Given the description of an element on the screen output the (x, y) to click on. 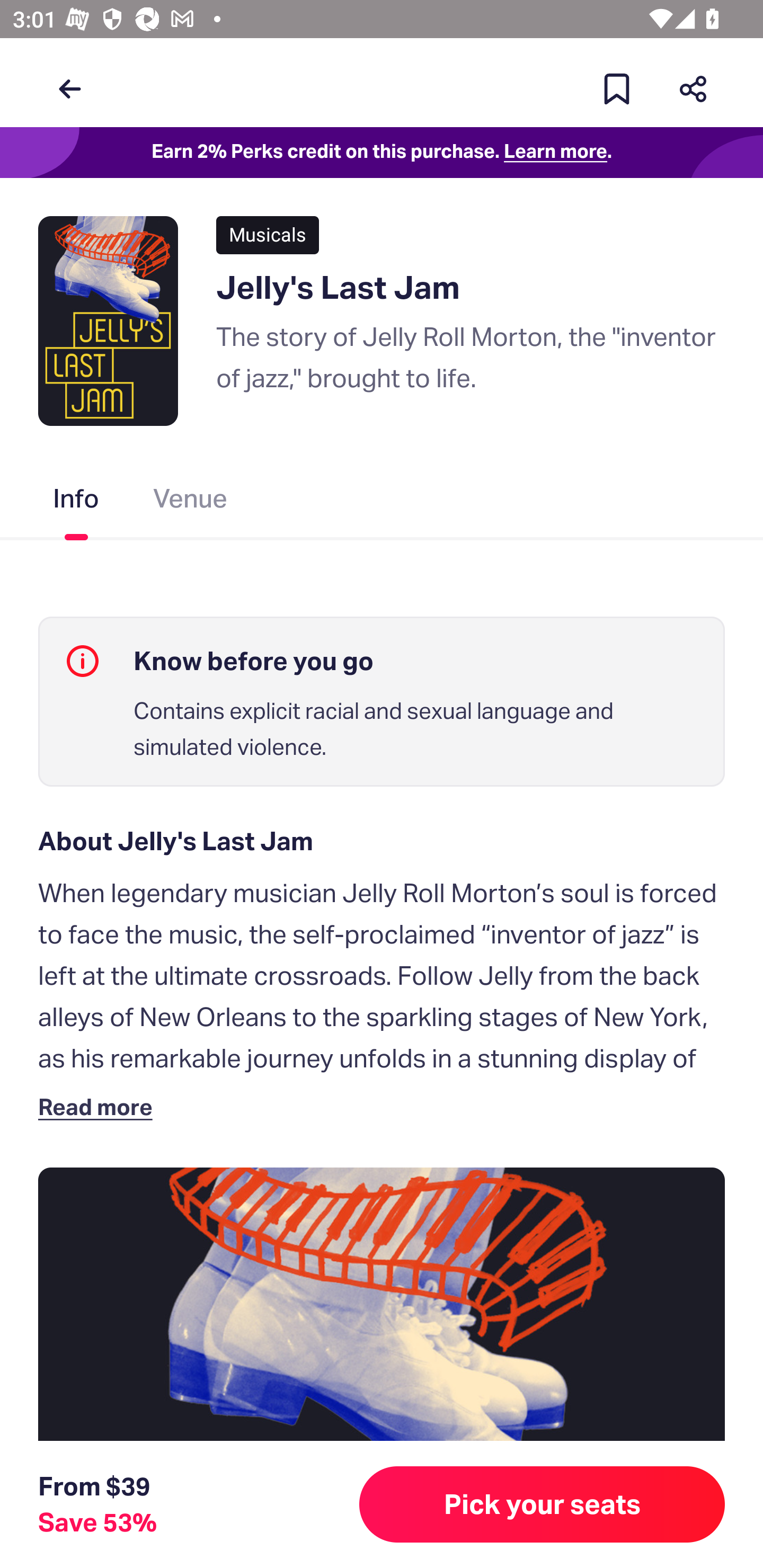
Earn 2% Perks credit on this purchase. Learn more. (381, 152)
Venue (190, 502)
About Jelly's Last Jam (381, 840)
Read more (99, 1105)
Pick your seats (541, 1504)
